Given the description of an element on the screen output the (x, y) to click on. 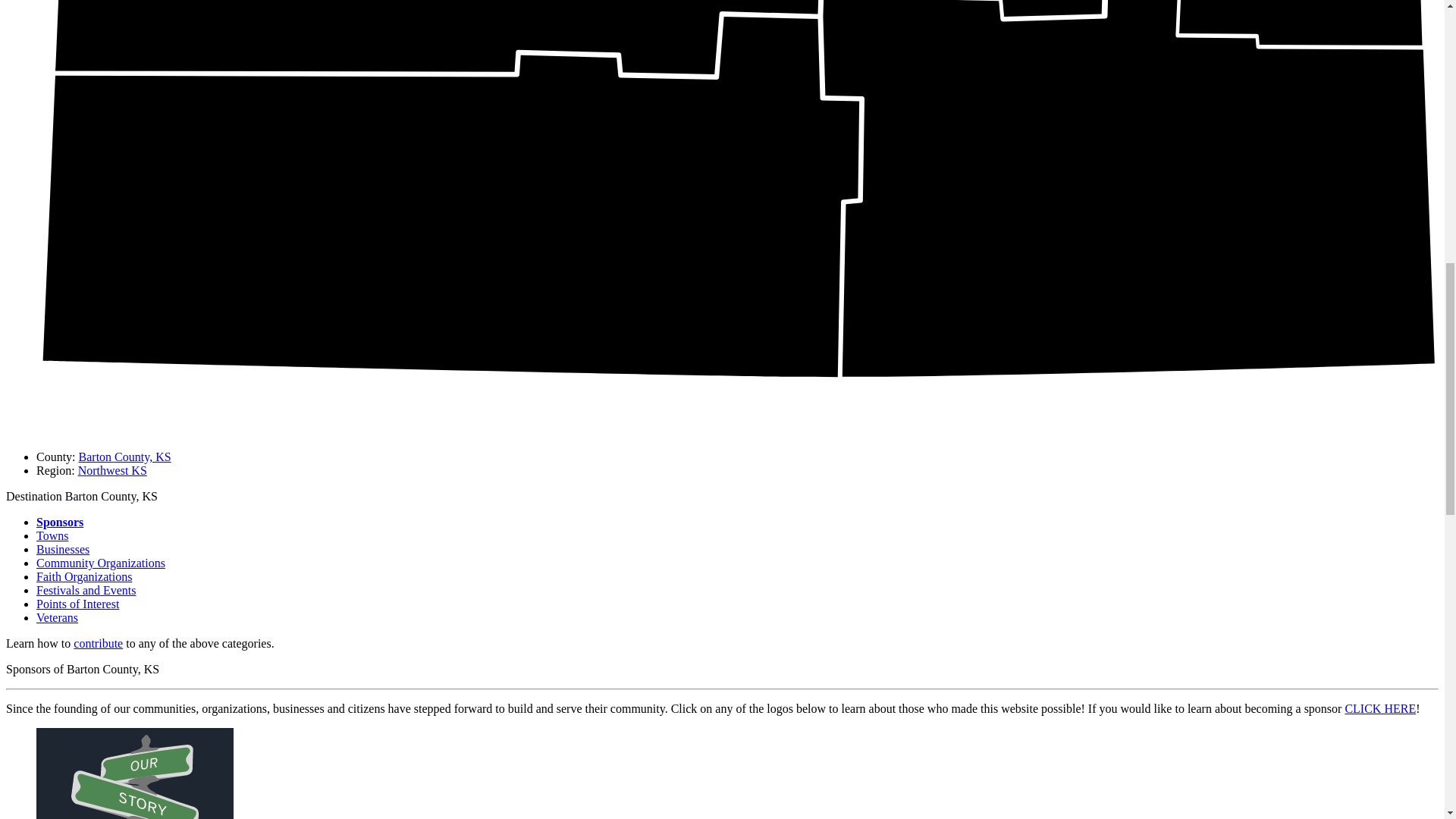
contribute (98, 643)
Veterans (57, 617)
Faith Organizations (84, 576)
Northwest KS (112, 470)
Barton County, KS (124, 456)
Towns (52, 535)
Points of Interest (77, 603)
Community Organizations (100, 562)
CLICK HERE (1379, 707)
Businesses (62, 549)
Sponsors (59, 521)
Festivals and Events (86, 590)
